Given the description of an element on the screen output the (x, y) to click on. 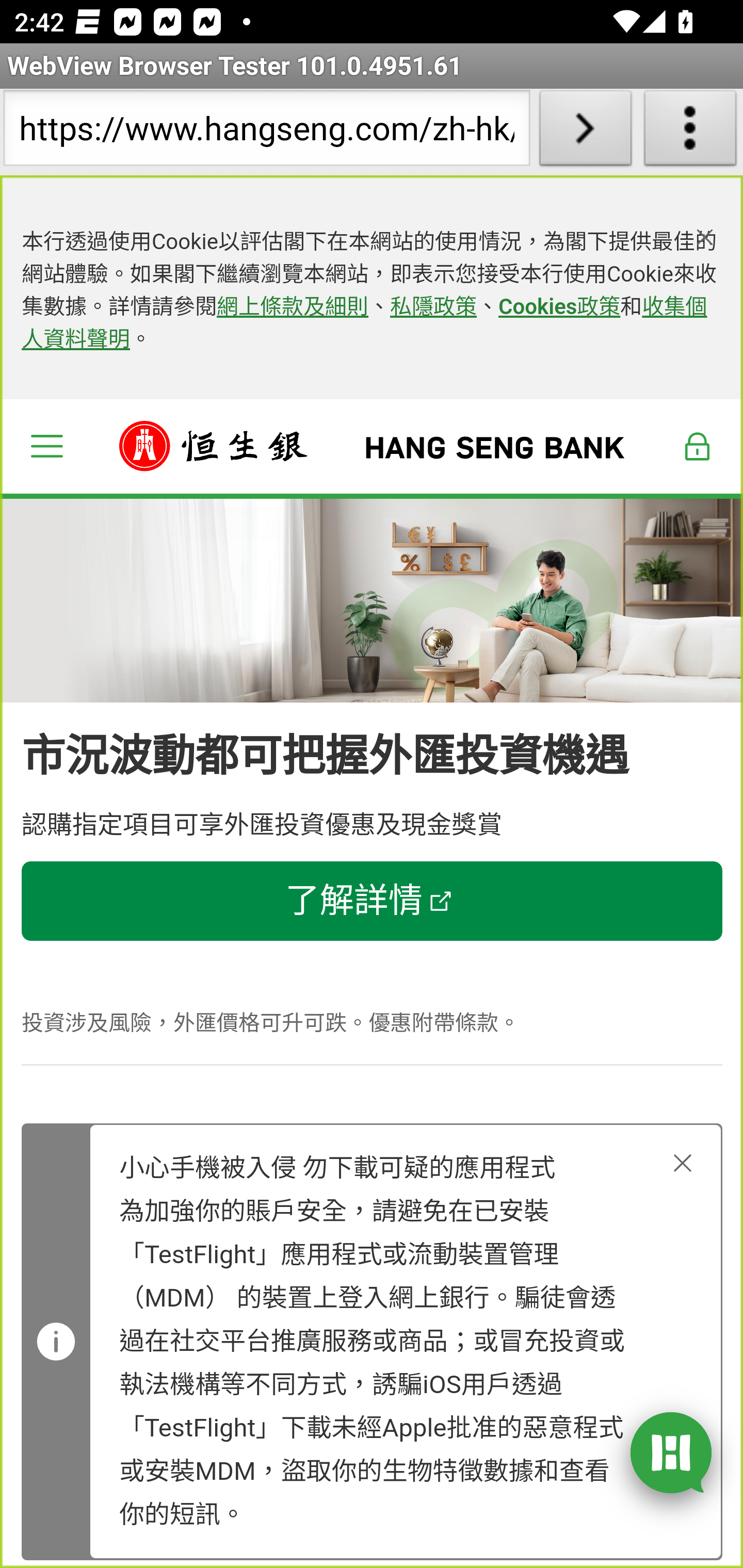
https://www.hangseng.com/zh-hk/home/ (266, 132)
Load URL (585, 132)
About WebView (690, 132)
收集個人資料聲明 (364, 324)
網上條款及細則 (293, 306)
私隱政策 (434, 306)
Cookies政策 (559, 306)
選單 (46, 445)
恒生銀行 (372, 445)
登入 (697, 445)
了解詳情 (於新視窗開啟) (372, 901)
關閉 (683, 1162)
與 HARO 對話 (於新視窗開啟) (670, 1451)
